Given the description of an element on the screen output the (x, y) to click on. 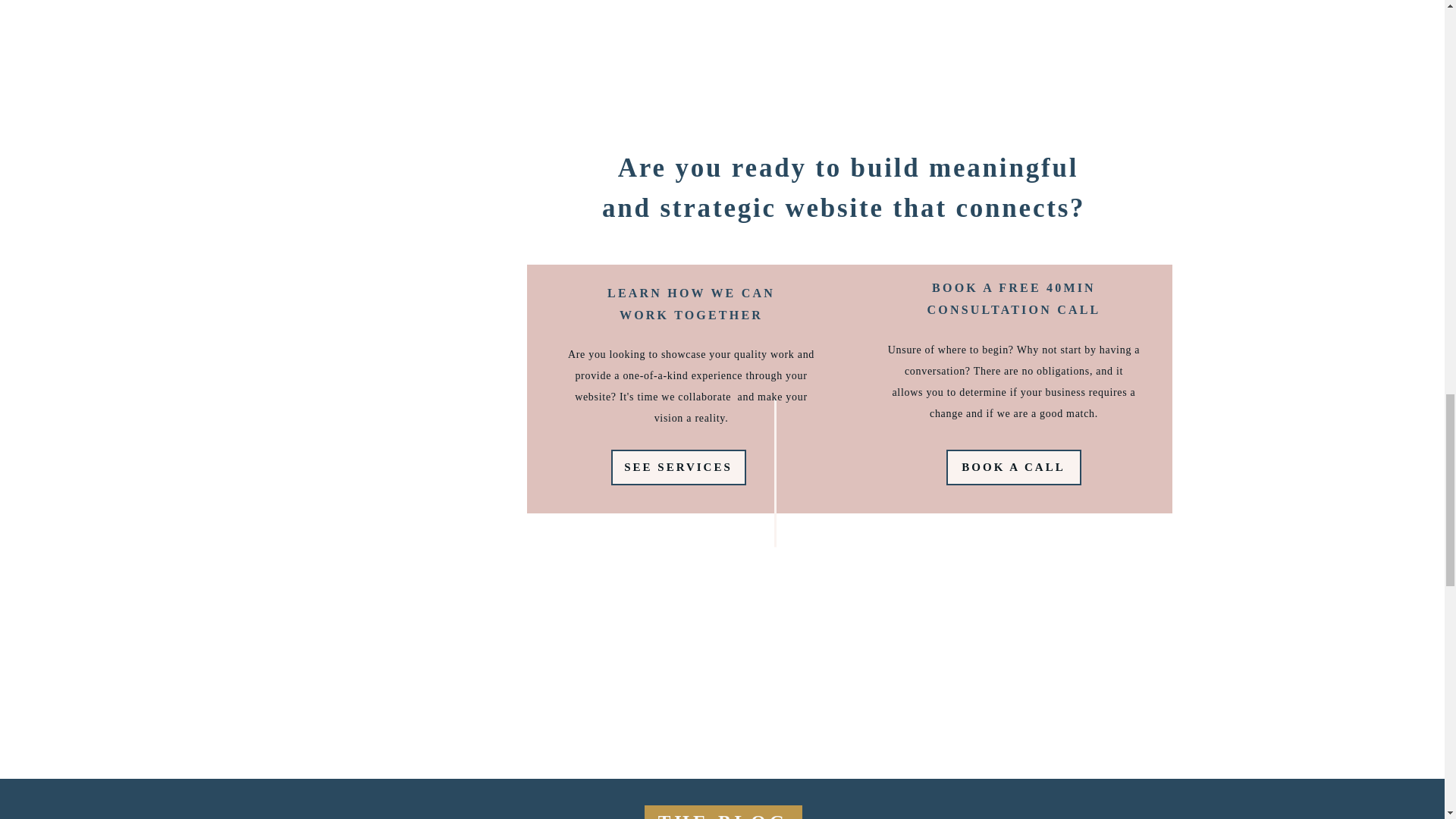
BOOK A CALL (1013, 467)
SEE SERVICES (678, 468)
THE BLOG (722, 812)
